Given the description of an element on the screen output the (x, y) to click on. 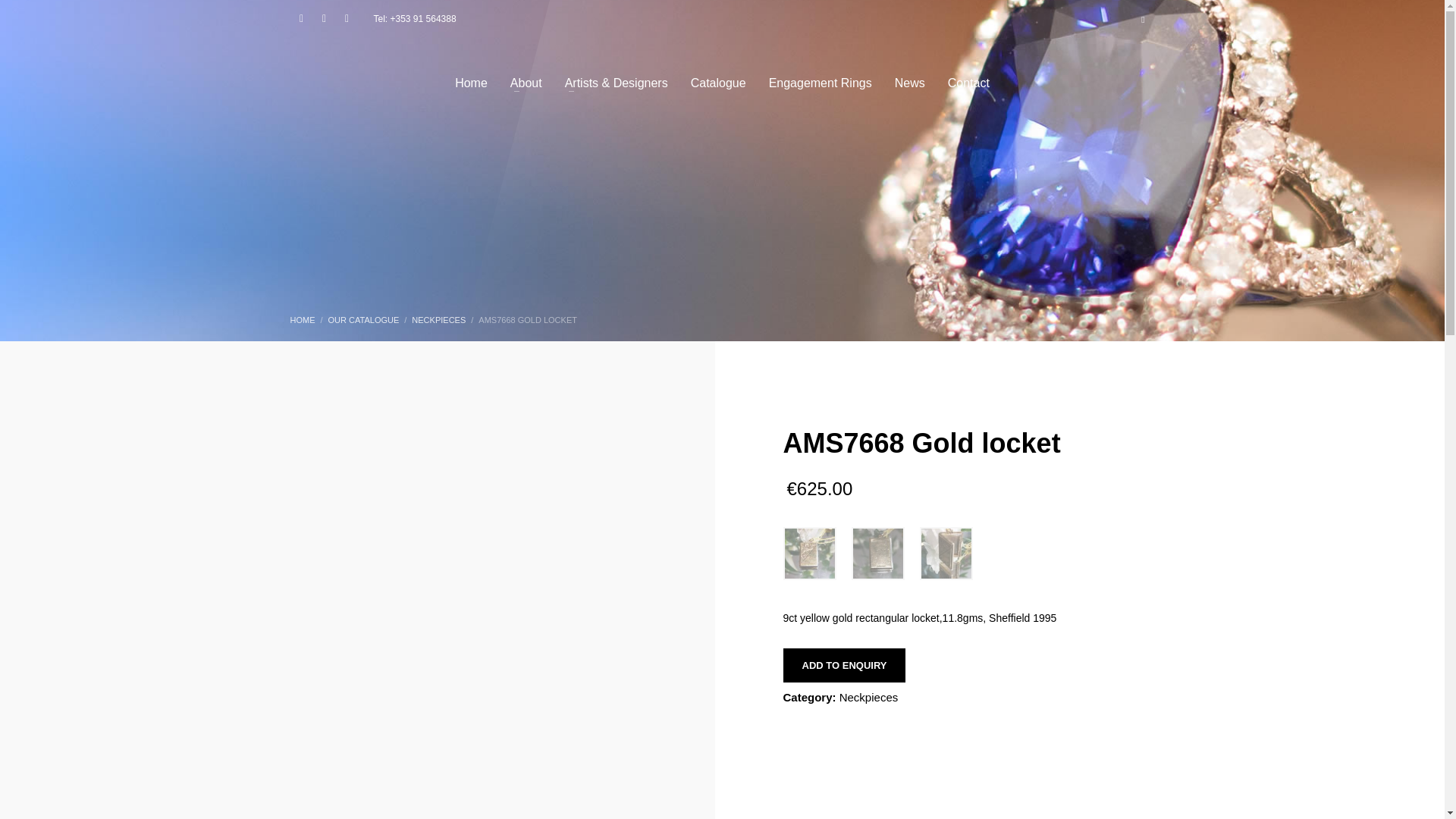
oznor (809, 552)
Engagement Rings (820, 81)
HOME (301, 319)
ADD TO ENQUIRY (844, 664)
Facebook (301, 18)
OUR CATALOGUE (363, 319)
Instagram (323, 18)
oznor (877, 552)
oznor (945, 552)
NECKPIECES (438, 319)
Neckpieces (869, 696)
